Given the description of an element on the screen output the (x, y) to click on. 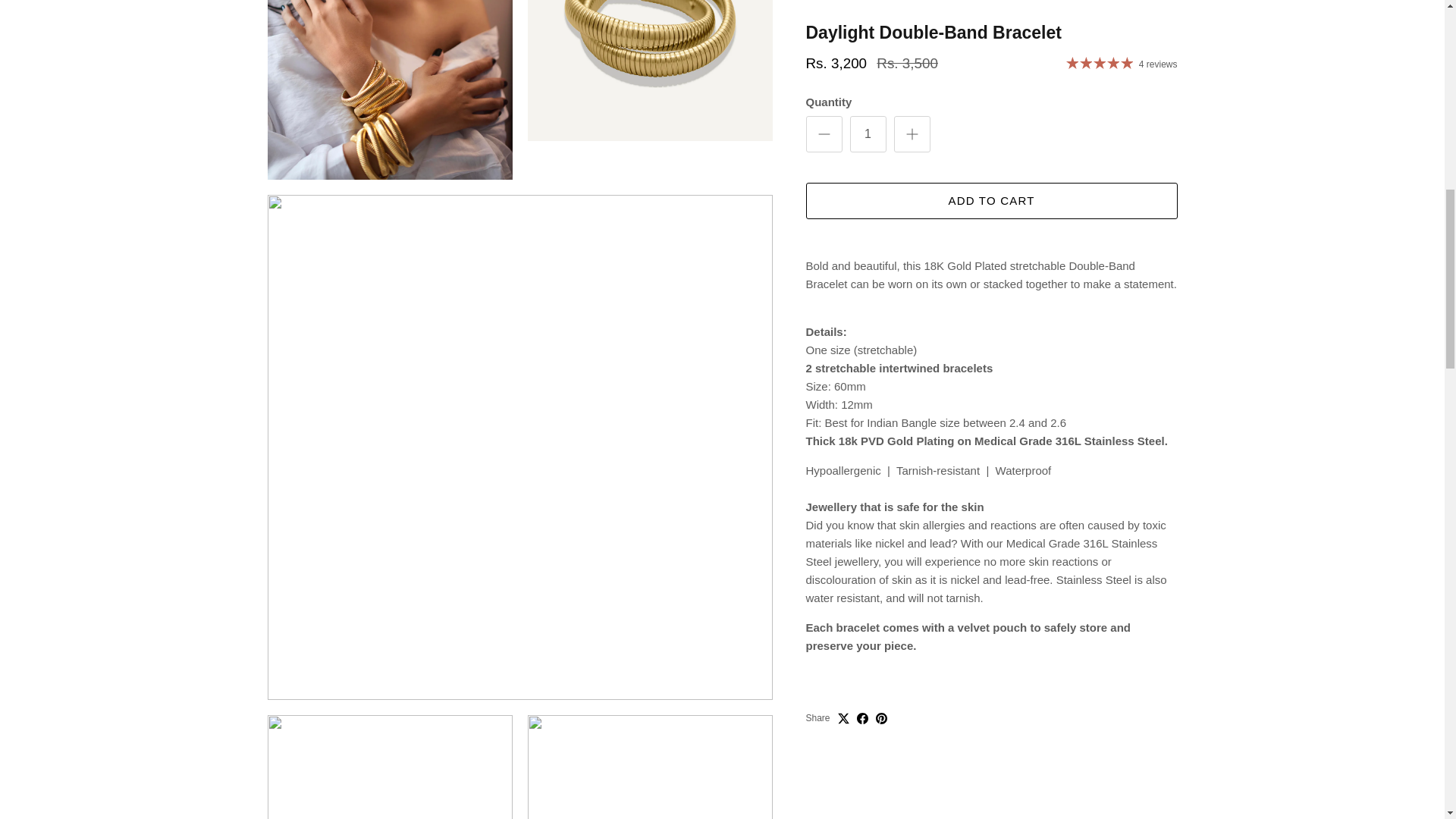
Share on Facebook (862, 56)
Pin on Pinterest (881, 56)
Tweet on X (843, 56)
